Given the description of an element on the screen output the (x, y) to click on. 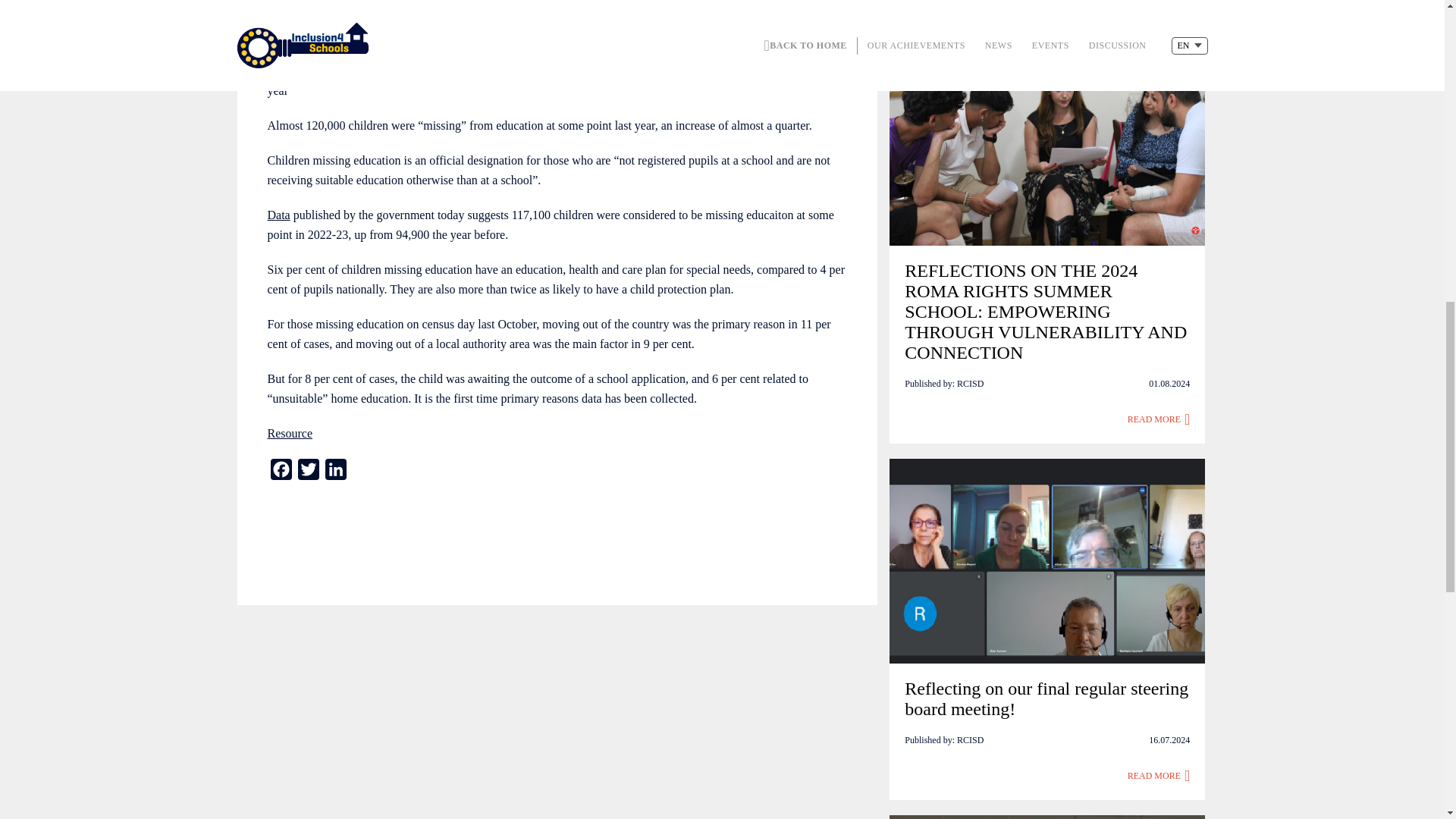
LinkedIn (335, 472)
READ MORE (1158, 419)
Twitter (307, 472)
Facebook (280, 472)
Resource (289, 432)
Facebook (280, 472)
Data (277, 214)
READ MORE (1158, 775)
LinkedIn (335, 472)
Twitter (307, 472)
